Given the description of an element on the screen output the (x, y) to click on. 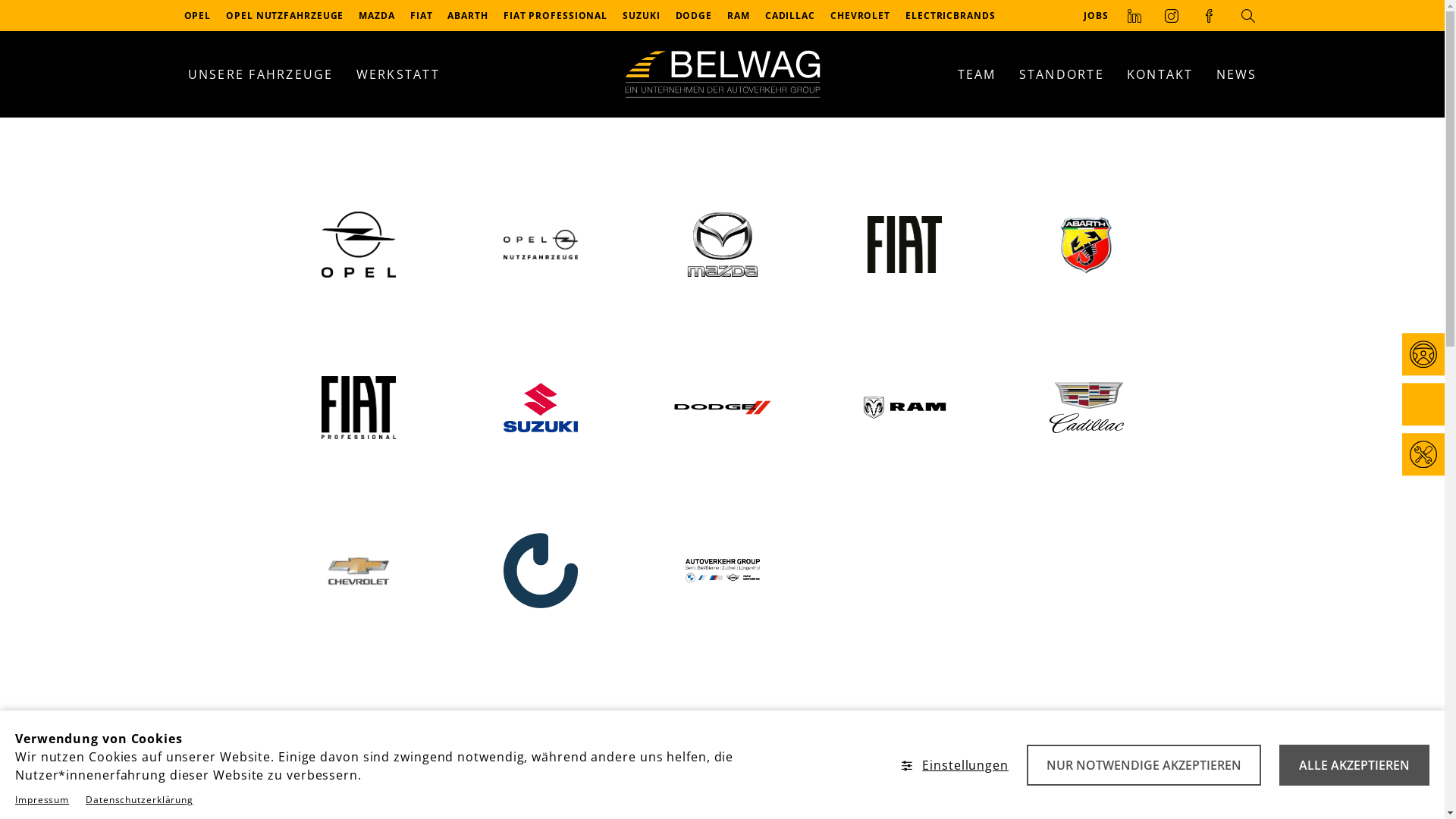
Impressum Element type: text (42, 799)
TEAM Element type: text (976, 74)
CADILLAC Element type: text (789, 15)
RAM Element type: text (738, 15)
DODGE Element type: text (694, 15)
Suzuki Element type: hover (540, 407)
SUZUKI Element type: text (641, 15)
Mazda Element type: hover (721, 244)
Dodge Element type: hover (722, 407)
Facebook Element type: text (1208, 15)
Opel Element type: hover (357, 244)
JOBS Element type: text (1096, 15)
WERKSTATT Element type: text (397, 74)
OPEL Element type: text (196, 15)
Fiat Professional Element type: hover (358, 407)
Chevrolet Element type: hover (358, 569)
FIAT PROFESSIONAL Element type: text (555, 15)
Fiat Element type: hover (904, 244)
Instagram Element type: text (1171, 15)
Marke Opel Nutzfahrzeuge Element type: hover (540, 244)
RAM Element type: hover (903, 407)
Fiat Professional Element type: hover (357, 407)
ElectricBrands Element type: hover (540, 570)
Chevrolet Element type: hover (357, 570)
Autoverkehr Group Element type: hover (722, 570)
Dodge Element type: hover (721, 407)
ABARTH Element type: text (467, 15)
Autoverkehr Group Element type: hover (721, 570)
MAZDA Element type: text (376, 15)
STANDORTE Element type: text (1060, 74)
Fiat Abarth Element type: hover (1085, 244)
Cadillac Element type: hover (1086, 407)
RAM Element type: hover (904, 407)
Mazda Element type: hover (722, 244)
CHEVROLET Element type: text (859, 15)
UNSERE FAHRZEUGE Element type: text (259, 74)
OPEL NUTZFAHRZEUGE Element type: text (284, 15)
ALLE AKZEPTIEREN Element type: text (1354, 764)
Einstellungen Element type: text (954, 764)
Fiat Element type: hover (903, 244)
KONTAKT Element type: text (1159, 74)
ELECTRICBRANDS Element type: text (950, 15)
Fiat Abarth Element type: hover (1086, 244)
Suzuki Element type: hover (539, 407)
NEWS Element type: text (1235, 74)
Cadillac Element type: hover (1085, 407)
Zur Startseite Element type: hover (721, 74)
Marke Opel Nutzfahrzeuge Element type: hover (539, 244)
LinkedIn Element type: text (1134, 15)
ElectricBrands Element type: hover (539, 570)
NUR NOTWENDIGE AKZEPTIEREN Element type: text (1143, 764)
FIAT Element type: text (421, 15)
Opel Element type: hover (358, 244)
